Given the description of an element on the screen output the (x, y) to click on. 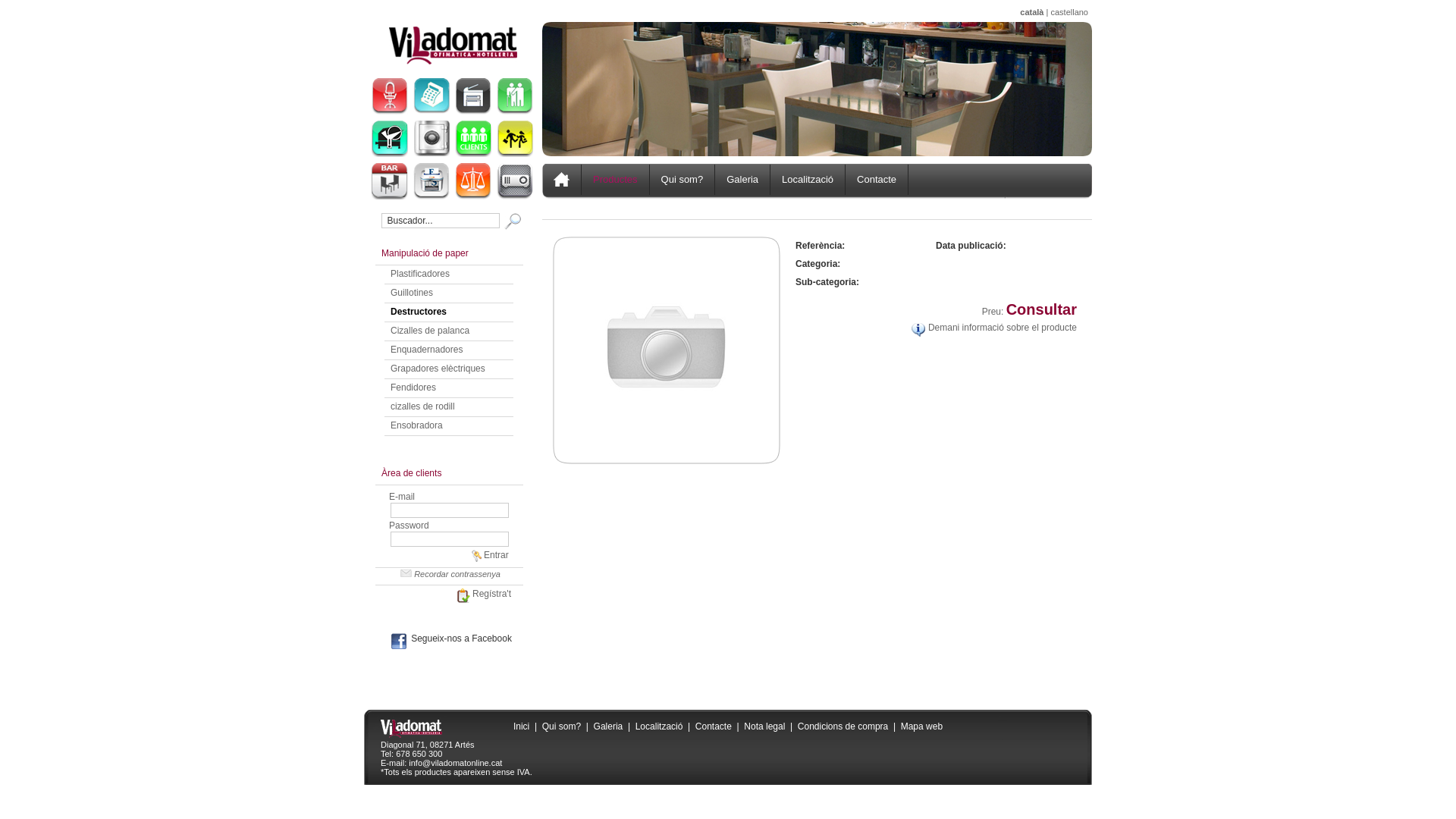
cizalles de rodill Element type: text (422, 406)
Inici Element type: text (521, 726)
Impresssores i multifuncions Element type: hover (473, 96)
Entrar Element type: text (488, 554)
Mobiliari escolar Element type: hover (514, 138)
Mobiliari bar/restaurants Element type: hover (389, 181)
Nota legal Element type: text (763, 726)
Consultar Element type: text (1041, 309)
Contacte Element type: text (713, 726)
Condicions de compra Element type: text (842, 726)
Galeria Element type: text (742, 179)
Plastificadores Element type: text (419, 273)
Buscador... Element type: text (439, 220)
Recordar contrassenya Element type: text (449, 573)
Qui som? Element type: text (682, 179)
Mobles d'oficina Element type: hover (389, 96)
Balances comercials Element type: hover (473, 181)
Productes Element type: text (615, 179)
Destructores Element type: text (418, 311)
Equips audiovisuals Element type: hover (514, 181)
Enquadernadores Element type: text (426, 349)
Seguretat Element type: hover (431, 138)
castellano Element type: text (1069, 11)
Fendidores Element type: text (413, 387)
Qui som? Element type: text (561, 726)
Segueix-nos a Facebook Element type: text (448, 638)
Cizalles de palanca Element type: text (429, 330)
Contacte Element type: text (876, 179)
Ensobradora Element type: text (416, 425)
Mapa web Element type: text (921, 726)
Guillotines Element type: text (411, 292)
Galeria Element type: text (608, 726)
TPVs i enregistradores Element type: hover (431, 96)
